Given the description of an element on the screen output the (x, y) to click on. 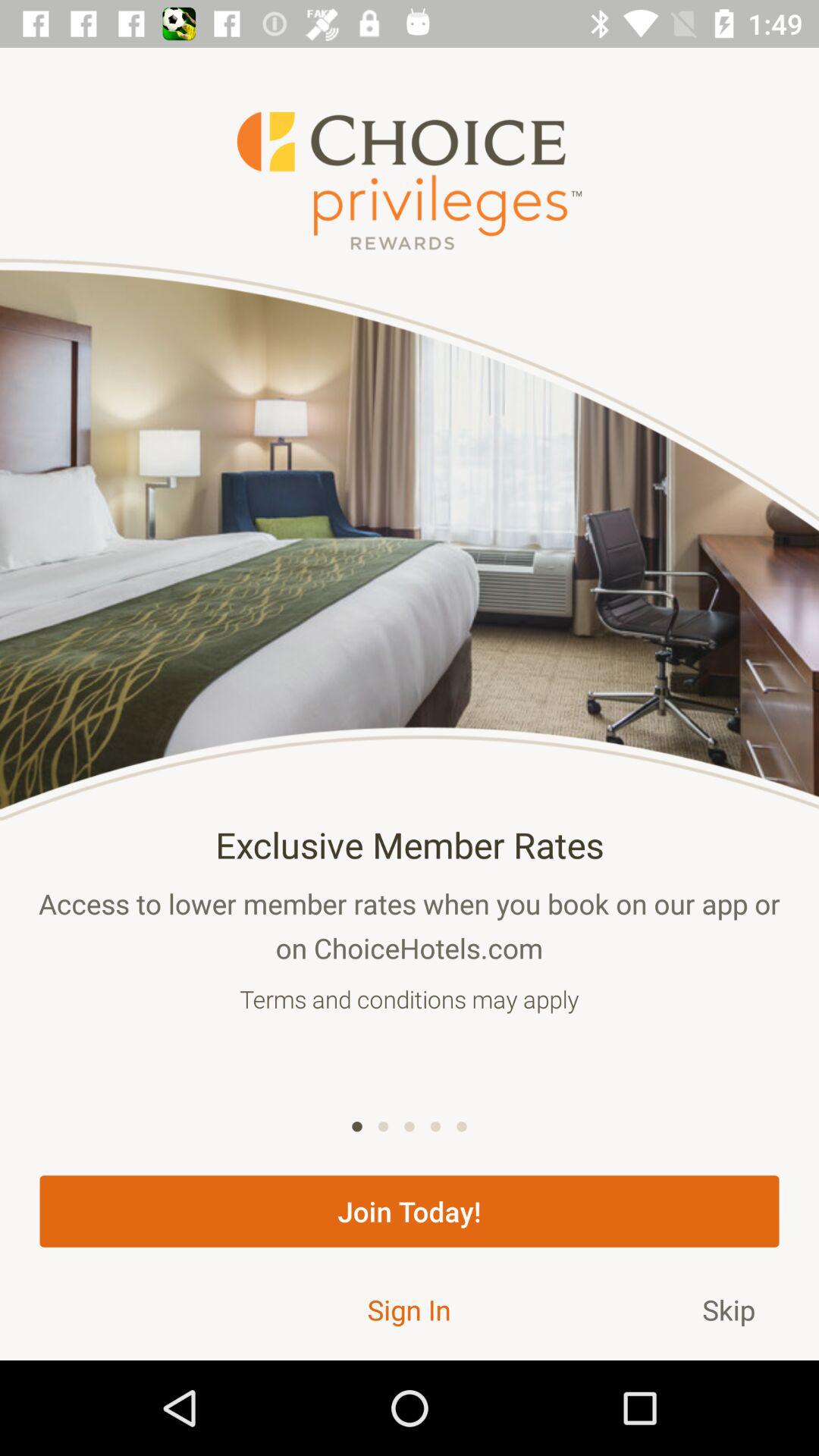
swipe until skip icon (728, 1309)
